Given the description of an element on the screen output the (x, y) to click on. 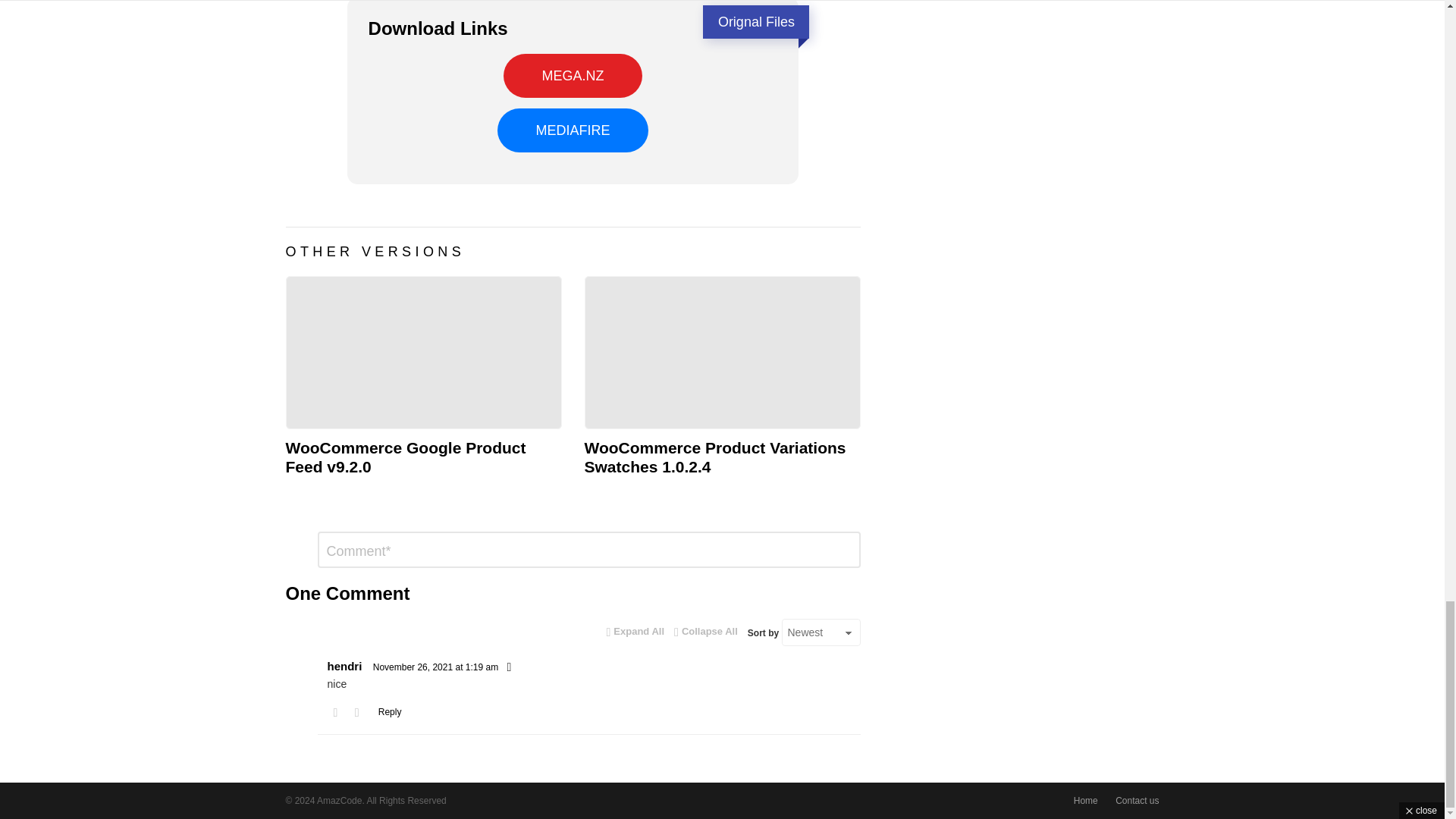
Reply (390, 712)
Collapse All Replies (706, 631)
Vote Up (334, 712)
Vote Down (356, 712)
WooCommerce Google Product Feed v9.2.0 (405, 456)
MEDIAFIRE (572, 130)
Collapse All (706, 631)
Expand All (636, 631)
WooCommerce Product Variations Swatches 1.0.2.4 (721, 352)
Expand All Replies (636, 631)
